Given the description of an element on the screen output the (x, y) to click on. 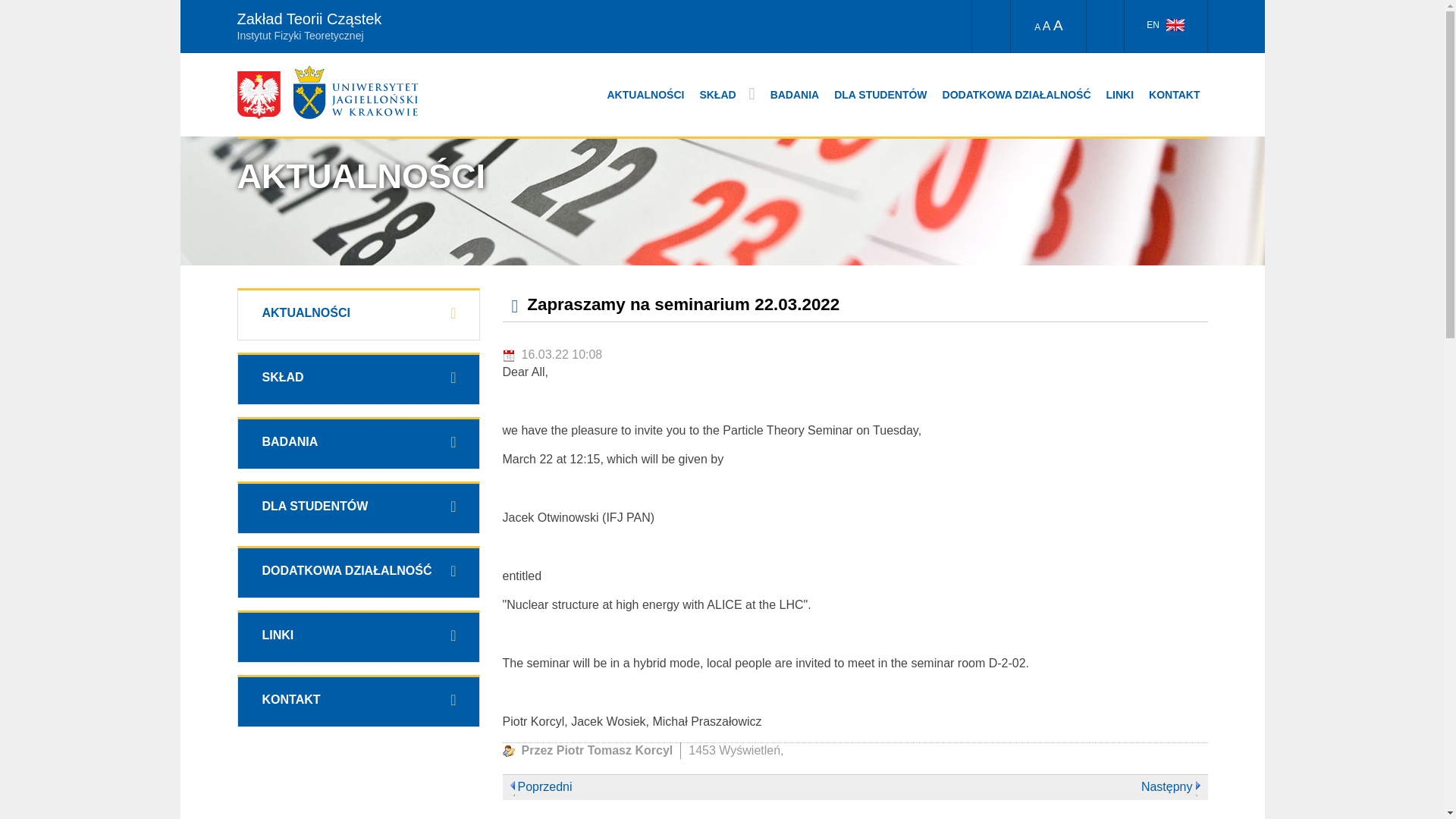
EN (1165, 26)
Instytut Fizyki Teoretycznej (526, 33)
Instytut Fizyki Teoretycznej (526, 33)
English (1175, 24)
